Given the description of an element on the screen output the (x, y) to click on. 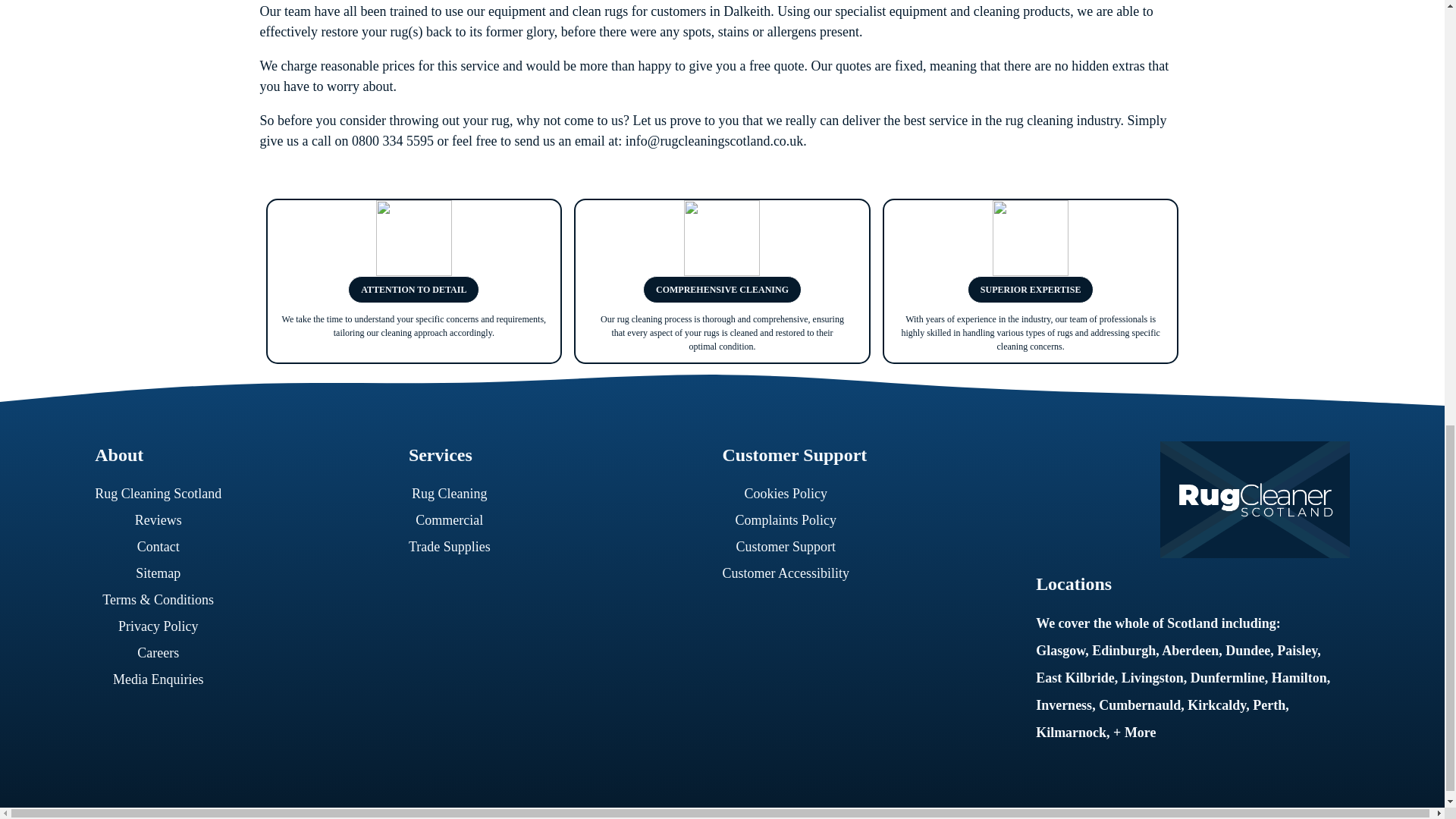
Complaints Policy (792, 519)
Customer Support (792, 546)
Cookies Policy (792, 493)
Sitemap (164, 573)
Customer Accessibility (792, 573)
Rug Cleaning (457, 493)
Trade Supplies (457, 546)
Rug Cleaning Scotland (164, 493)
Careers (164, 652)
Contact (164, 546)
